Given the description of an element on the screen output the (x, y) to click on. 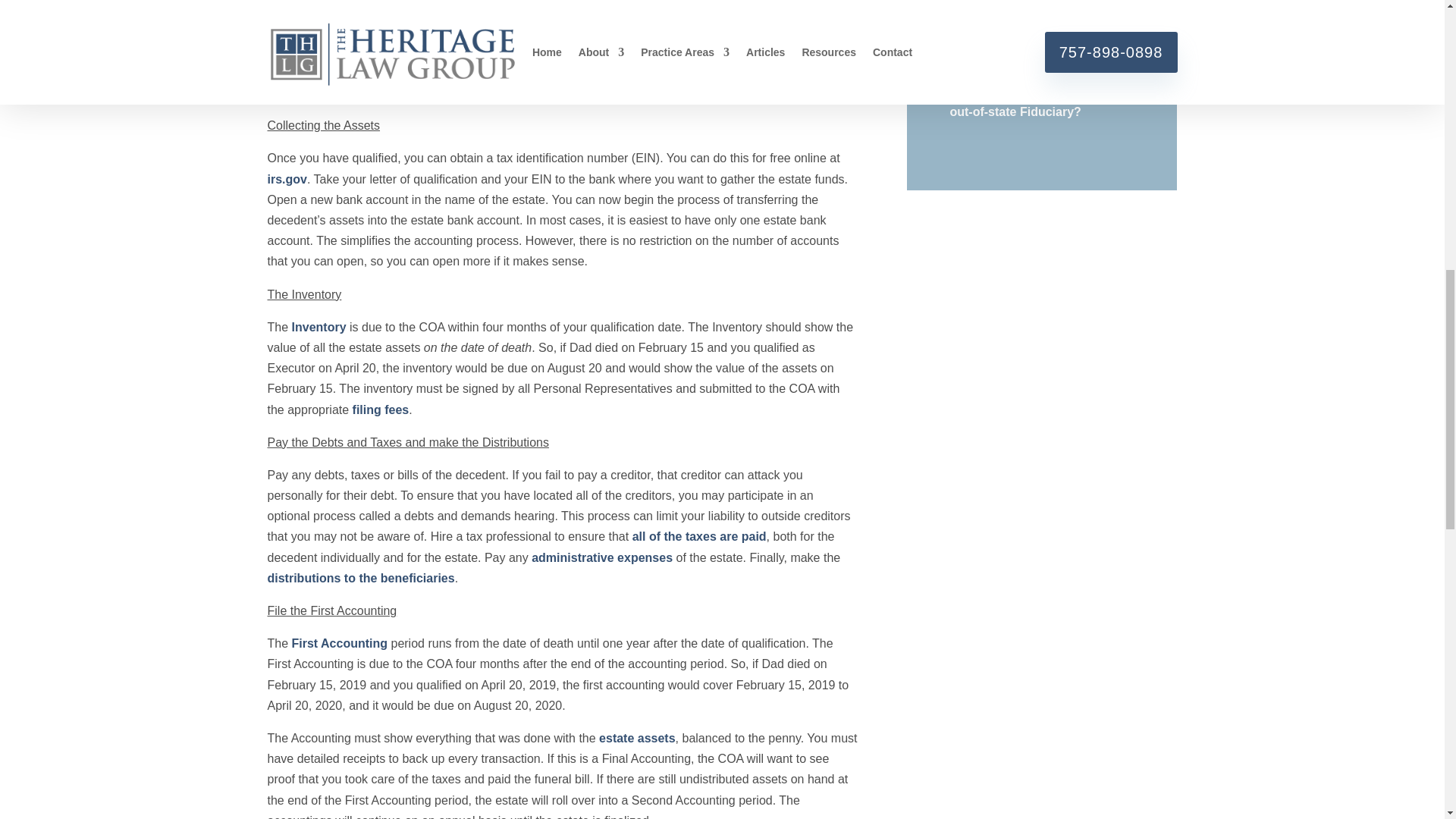
distributions to the beneficiaries (360, 577)
all of the taxes are paid (699, 535)
First Accounting (340, 643)
Commissioner of Accounts (547, 72)
administrative expenses (601, 557)
irs.gov (285, 178)
estate assets (636, 738)
filing fees (380, 409)
Inventory (319, 327)
